Given the description of an element on the screen output the (x, y) to click on. 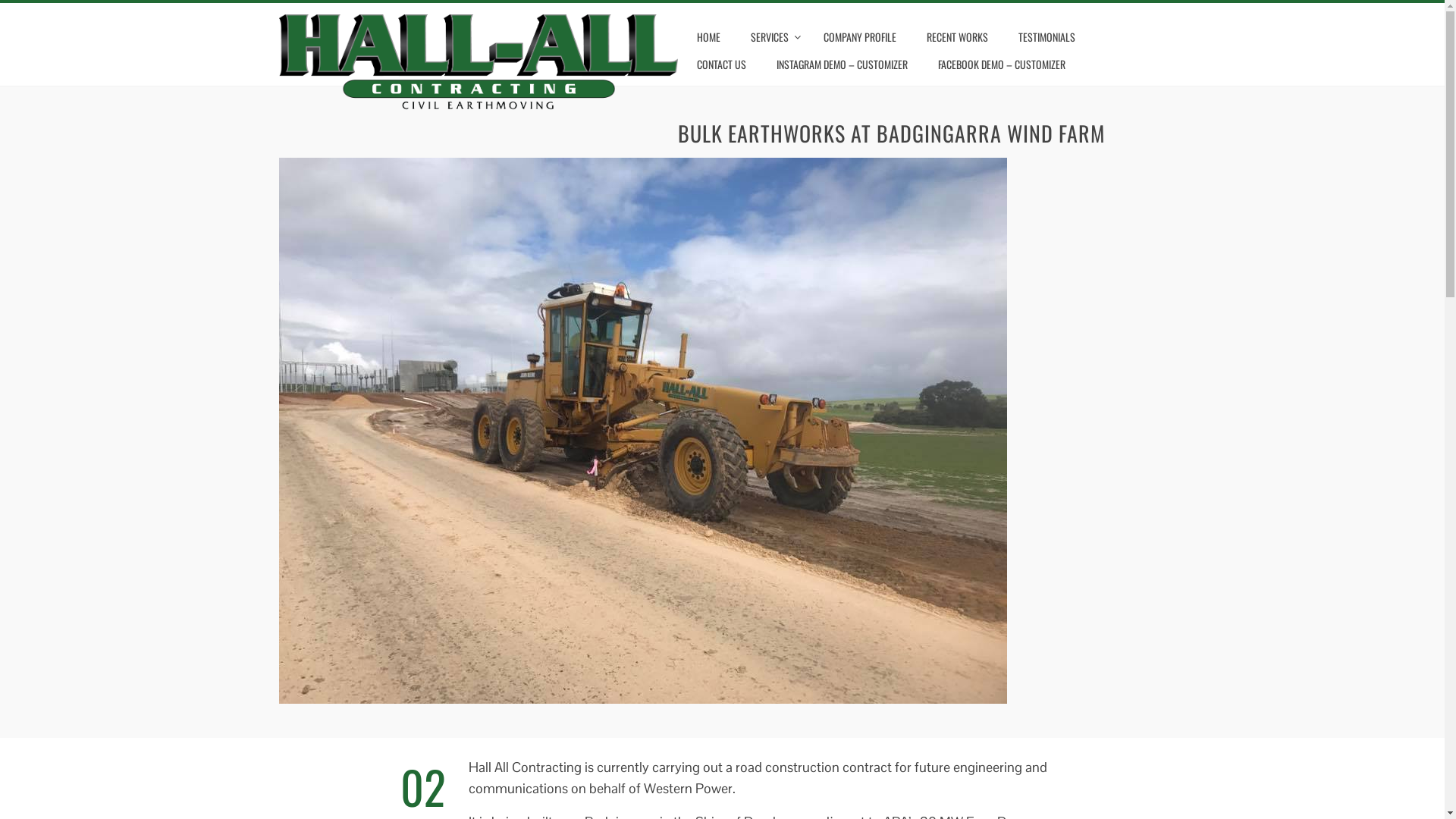
HOME Element type: text (708, 36)
SERVICES Element type: text (771, 36)
COMPANY PROFILE Element type: text (859, 36)
CONTACT US Element type: text (721, 64)
RECENT WORKS Element type: text (957, 36)
TESTIMONIALS Element type: text (1046, 36)
